Given the description of an element on the screen output the (x, y) to click on. 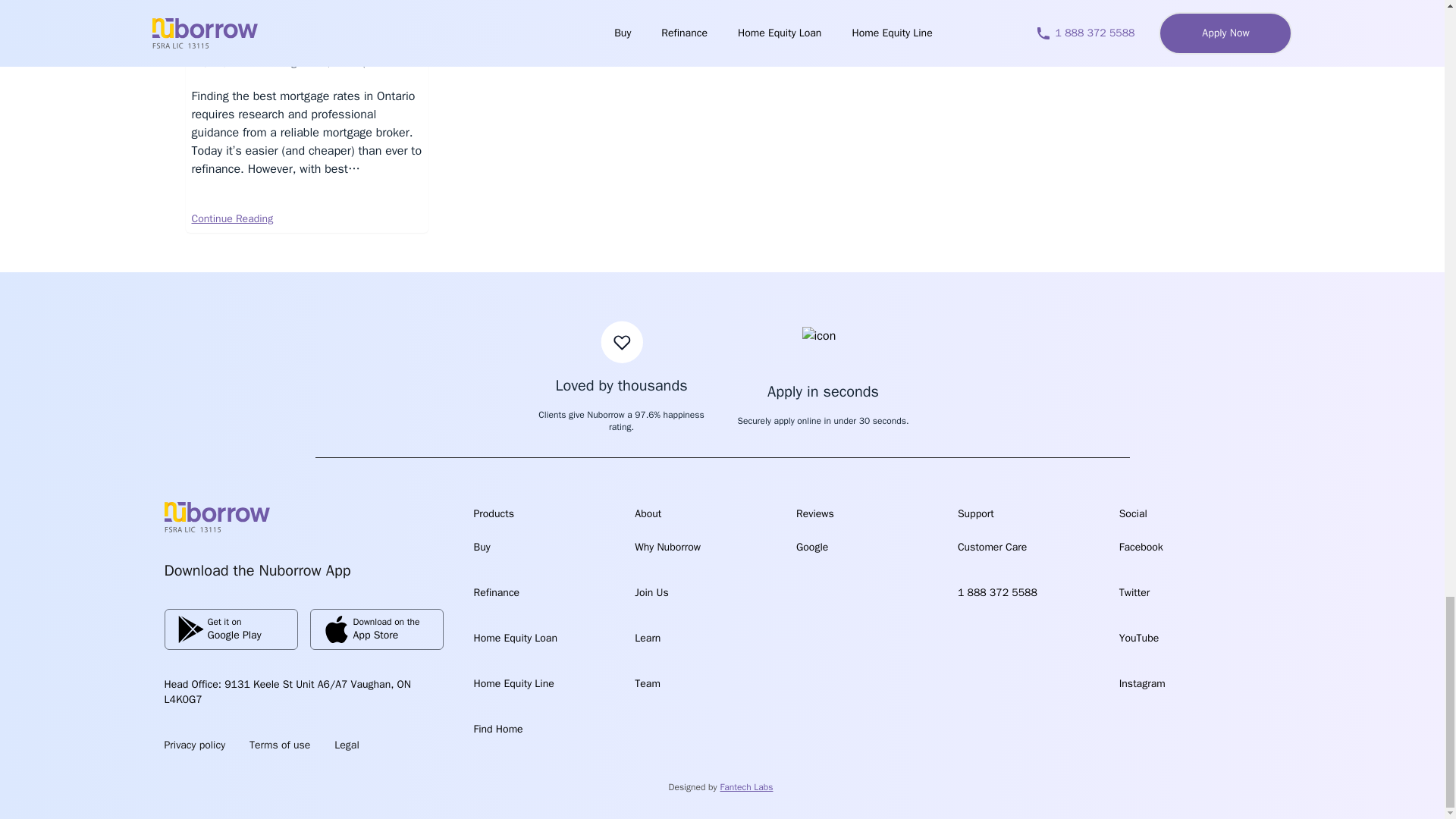
Fantech Labs (746, 787)
1 888 372 5588 (997, 592)
Customer Care (992, 546)
Go to Nuborrow.com (230, 629)
Refinance (216, 517)
Join Us (496, 592)
Terms of use (651, 592)
Instagram (279, 744)
Why Nuborrow (1142, 683)
